Given the description of an element on the screen output the (x, y) to click on. 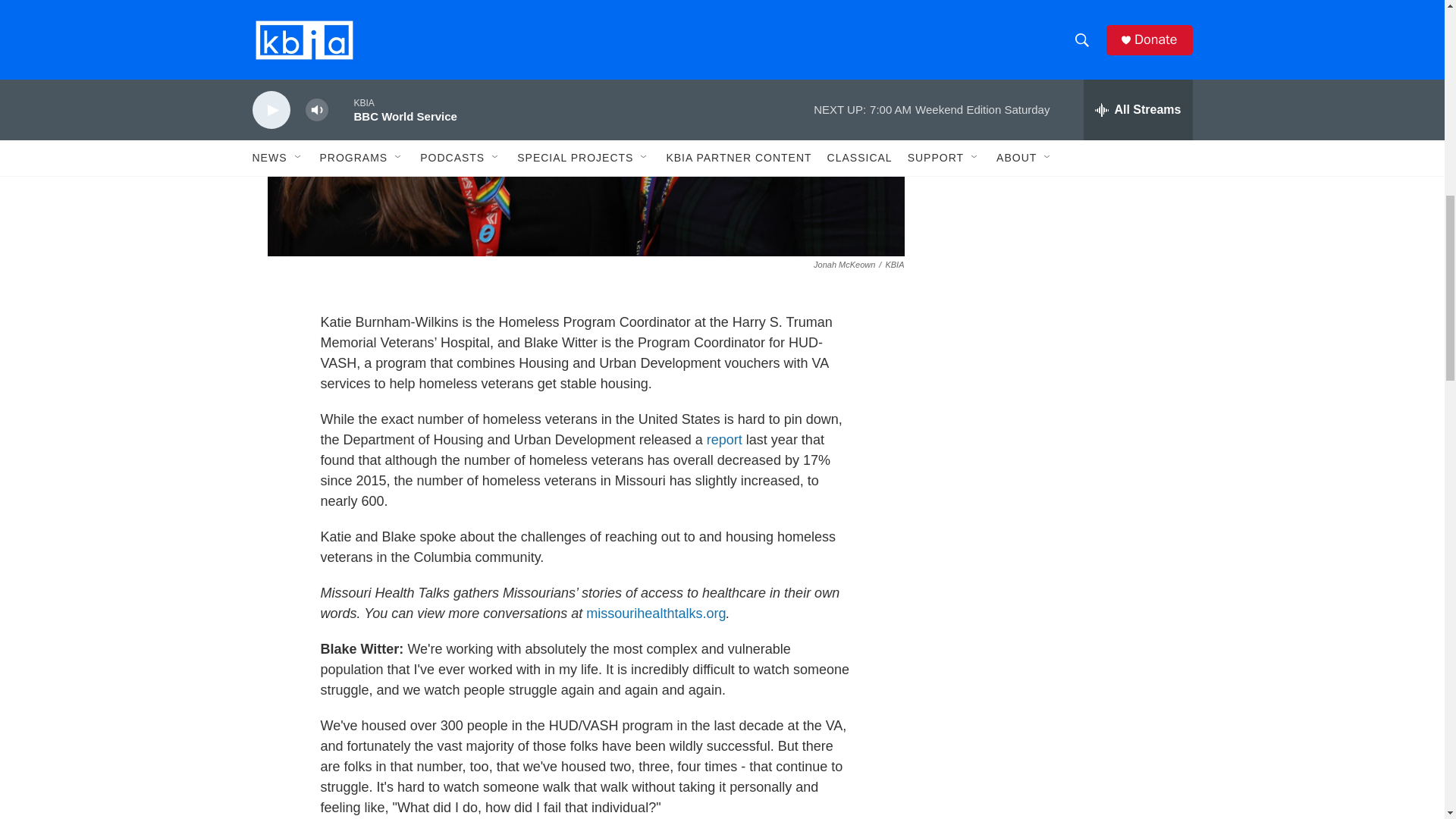
3rd party ad content (1062, 16)
